Given the description of an element on the screen output the (x, y) to click on. 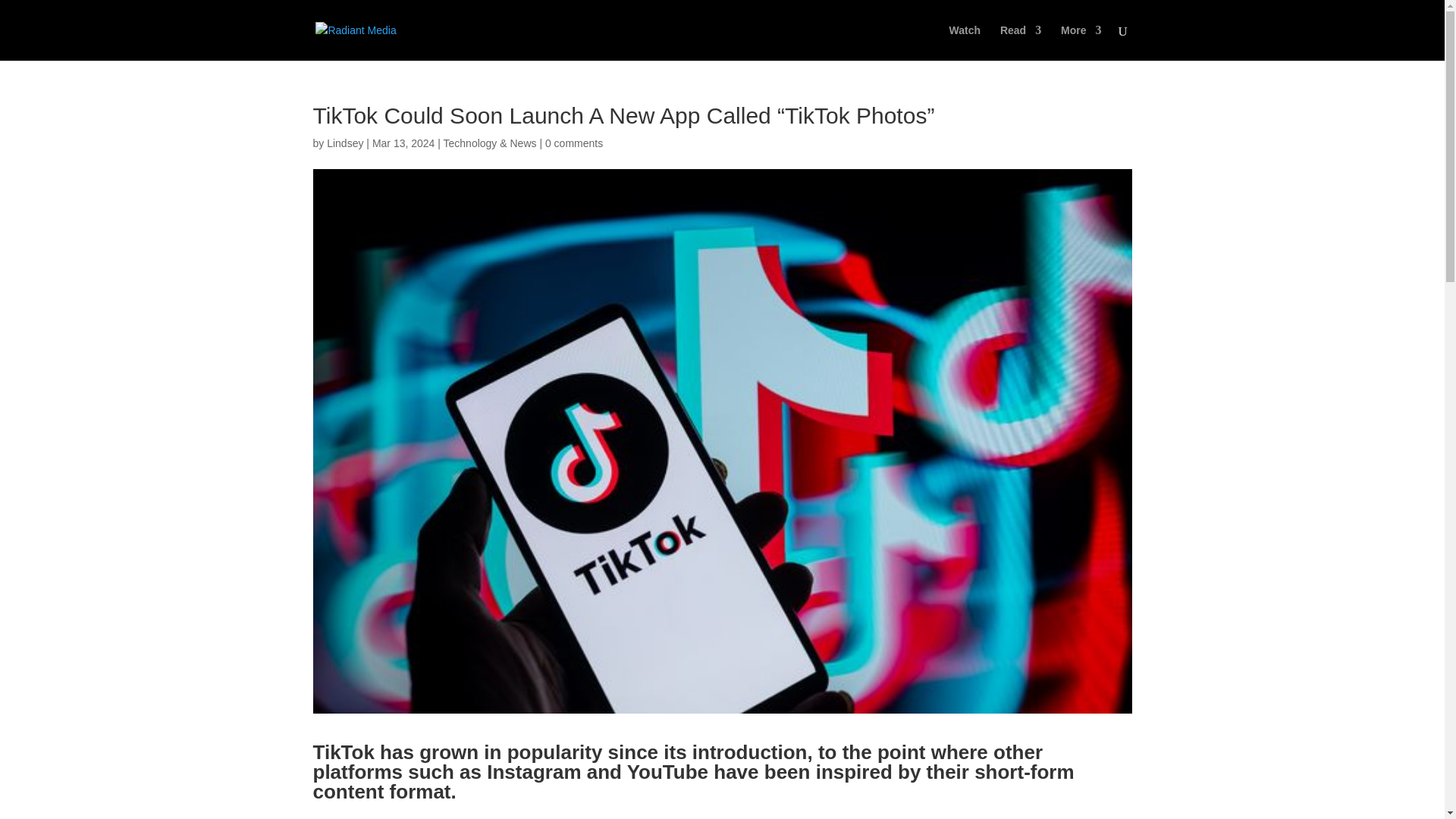
More (1080, 42)
0 comments (573, 143)
Read (1020, 42)
Posts by Lindsey (344, 143)
Lindsey (344, 143)
